Given the description of an element on the screen output the (x, y) to click on. 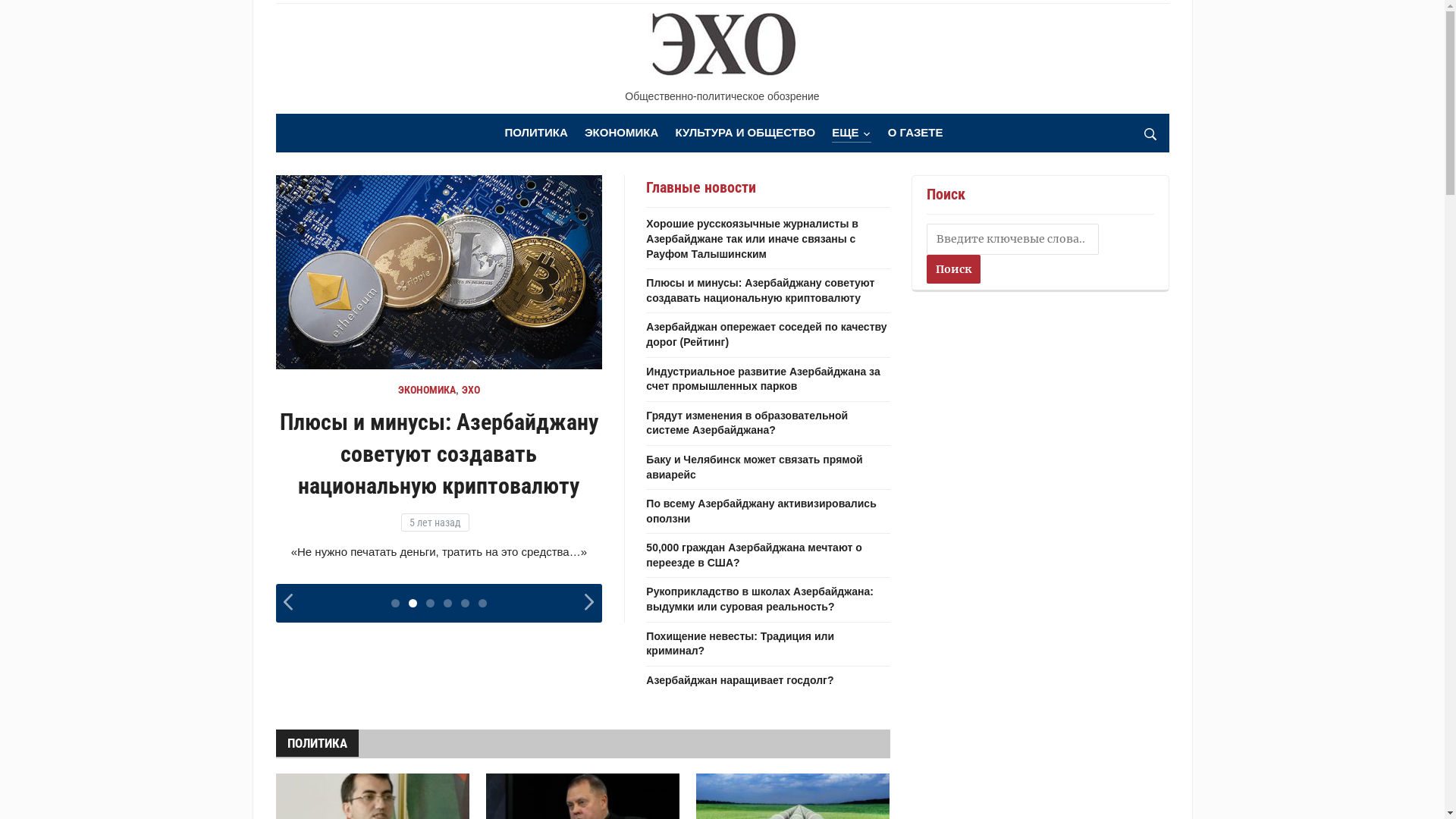
Previous Element type: text (290, 656)
3 Element type: text (430, 650)
1 Element type: text (395, 650)
6 Element type: text (482, 650)
Next Element type: text (590, 656)
5 Element type: text (465, 650)
2 Element type: text (412, 650)
4 Element type: text (447, 650)
